Given the description of an element on the screen output the (x, y) to click on. 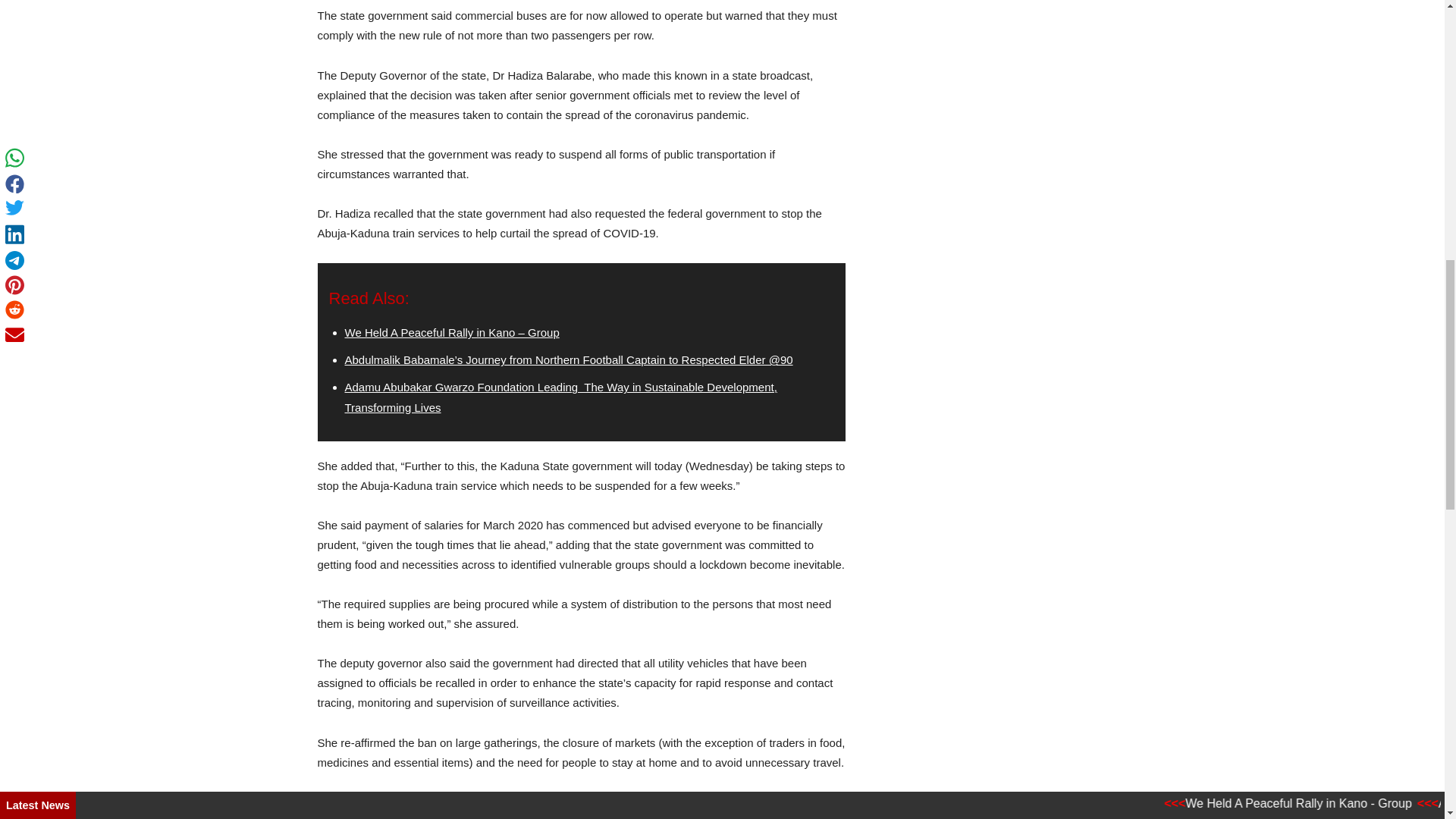
Arewa Award (580, 805)
